Given the description of an element on the screen output the (x, y) to click on. 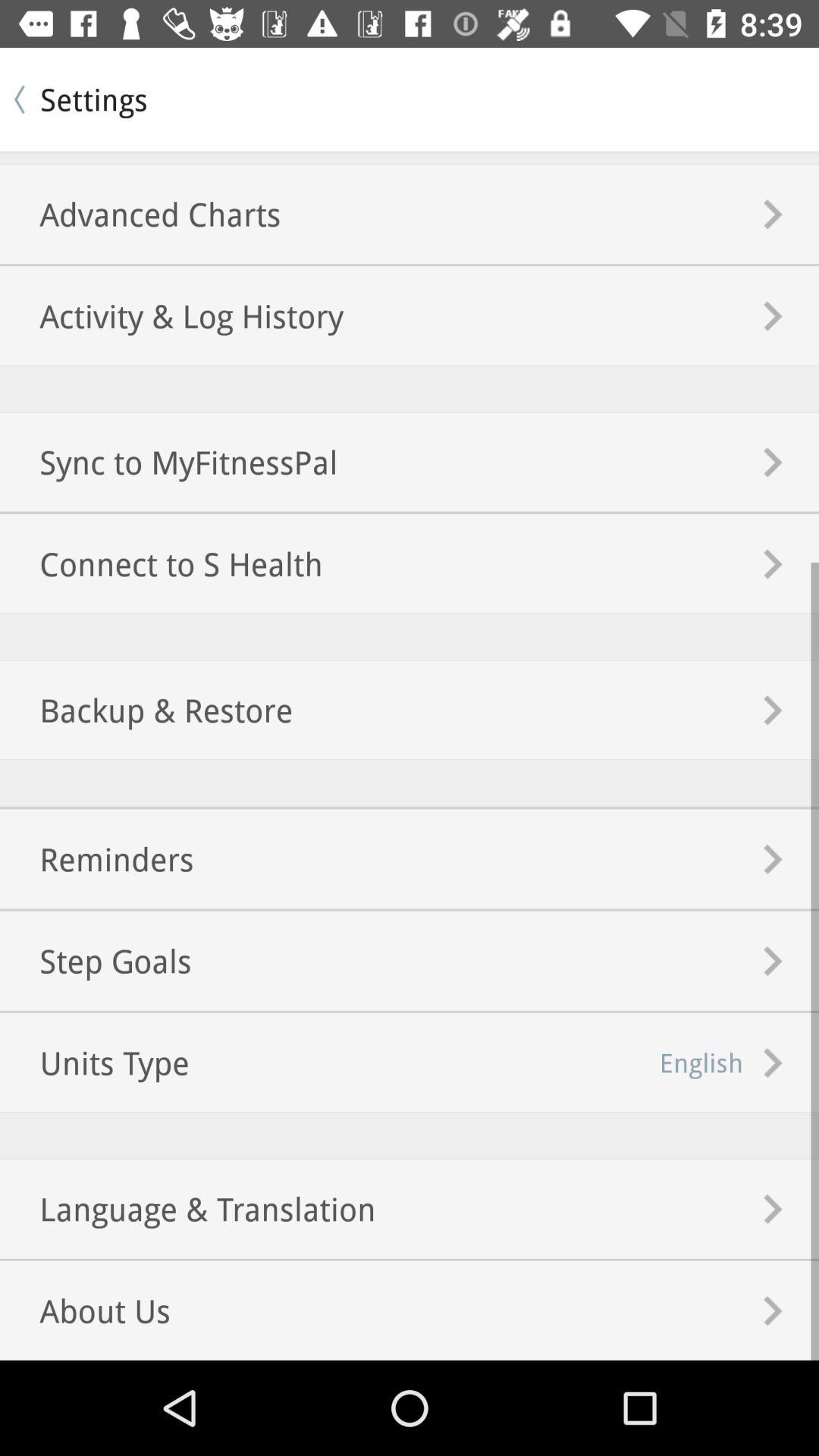
choose the icon above units type item (95, 960)
